Given the description of an element on the screen output the (x, y) to click on. 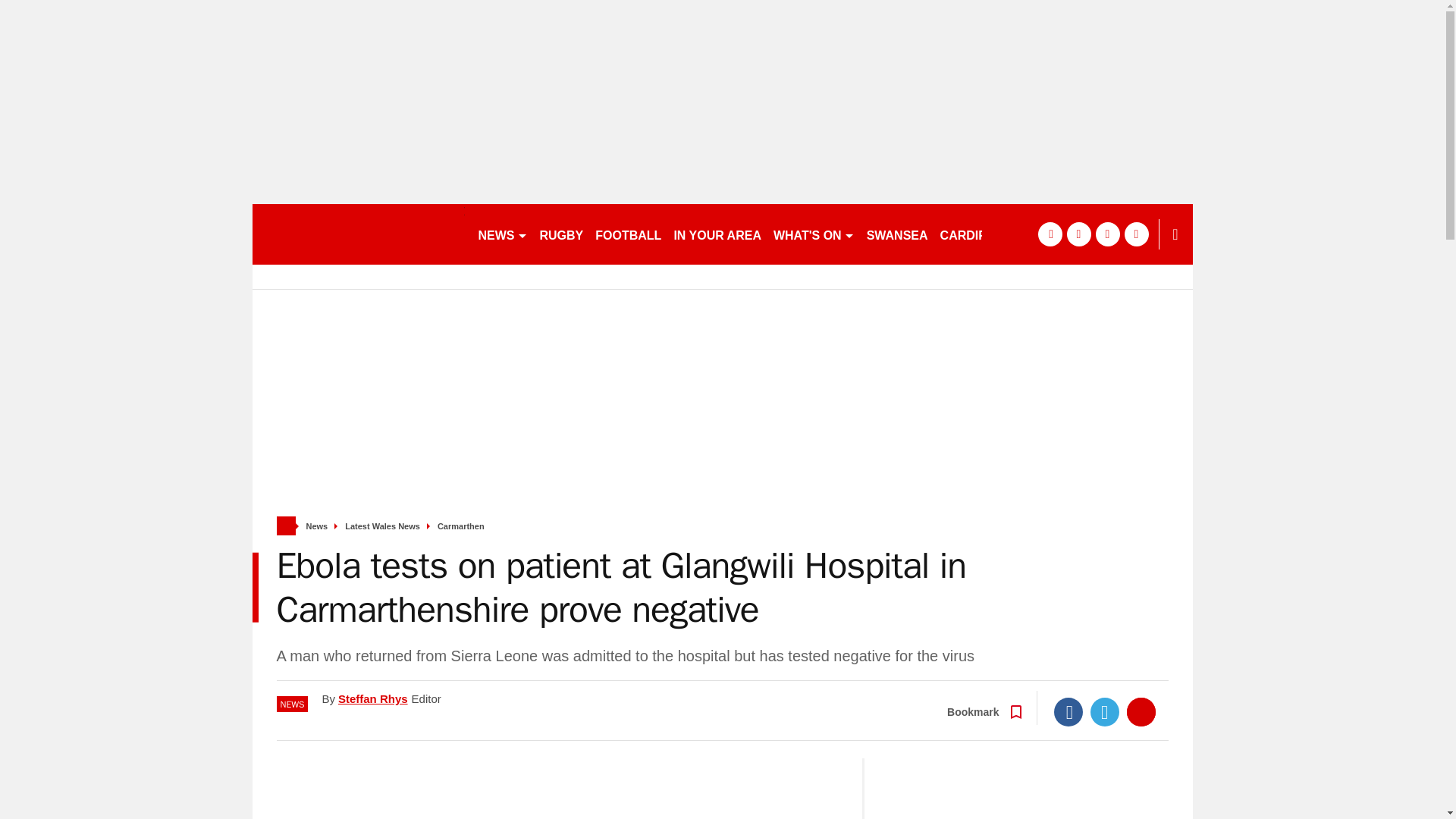
IN YOUR AREA (716, 233)
Twitter (1104, 711)
NEWS (501, 233)
FOOTBALL (627, 233)
RUGBY (561, 233)
walesonline (357, 233)
WHAT'S ON (813, 233)
pinterest (1106, 233)
instagram (1136, 233)
facebook (1048, 233)
